Given the description of an element on the screen output the (x, y) to click on. 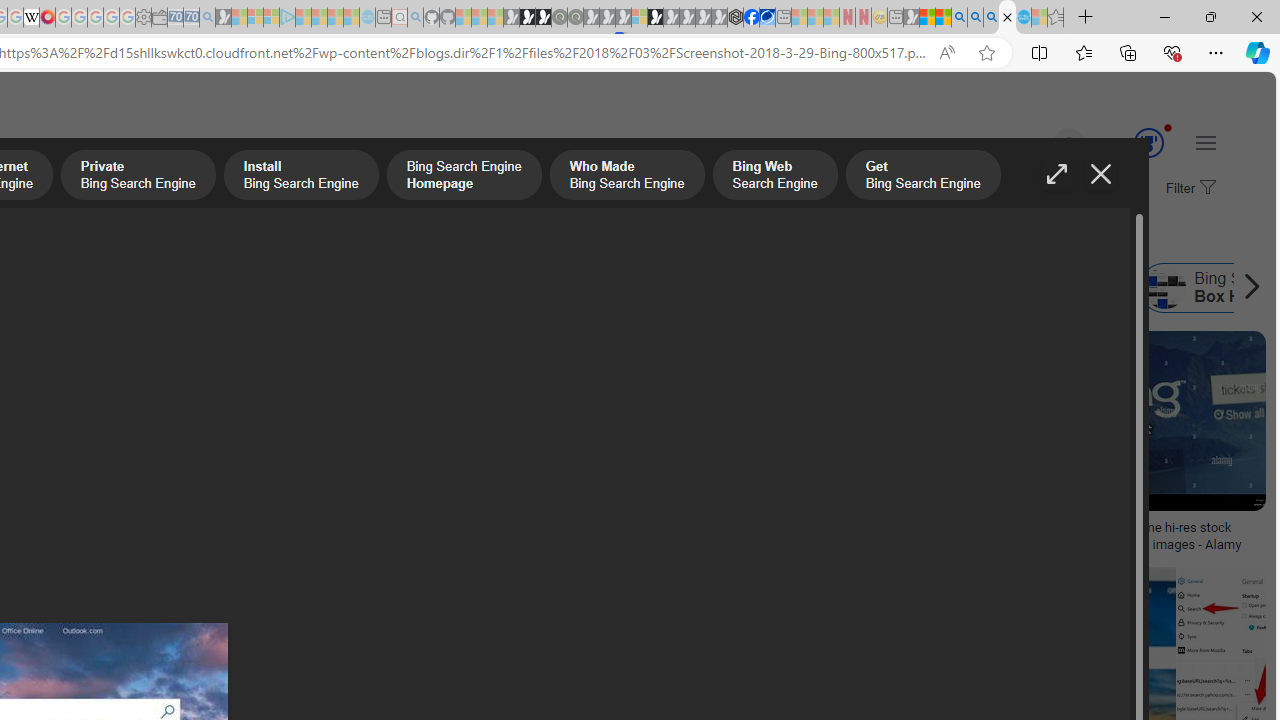
Nordace - Cooler Bags (735, 17)
Settings and quick links (1205, 142)
Bing Home Search Site (996, 287)
Hoodies (132, 460)
T-Shirts (132, 400)
Bing AI - Search (959, 17)
